Given the description of an element on the screen output the (x, y) to click on. 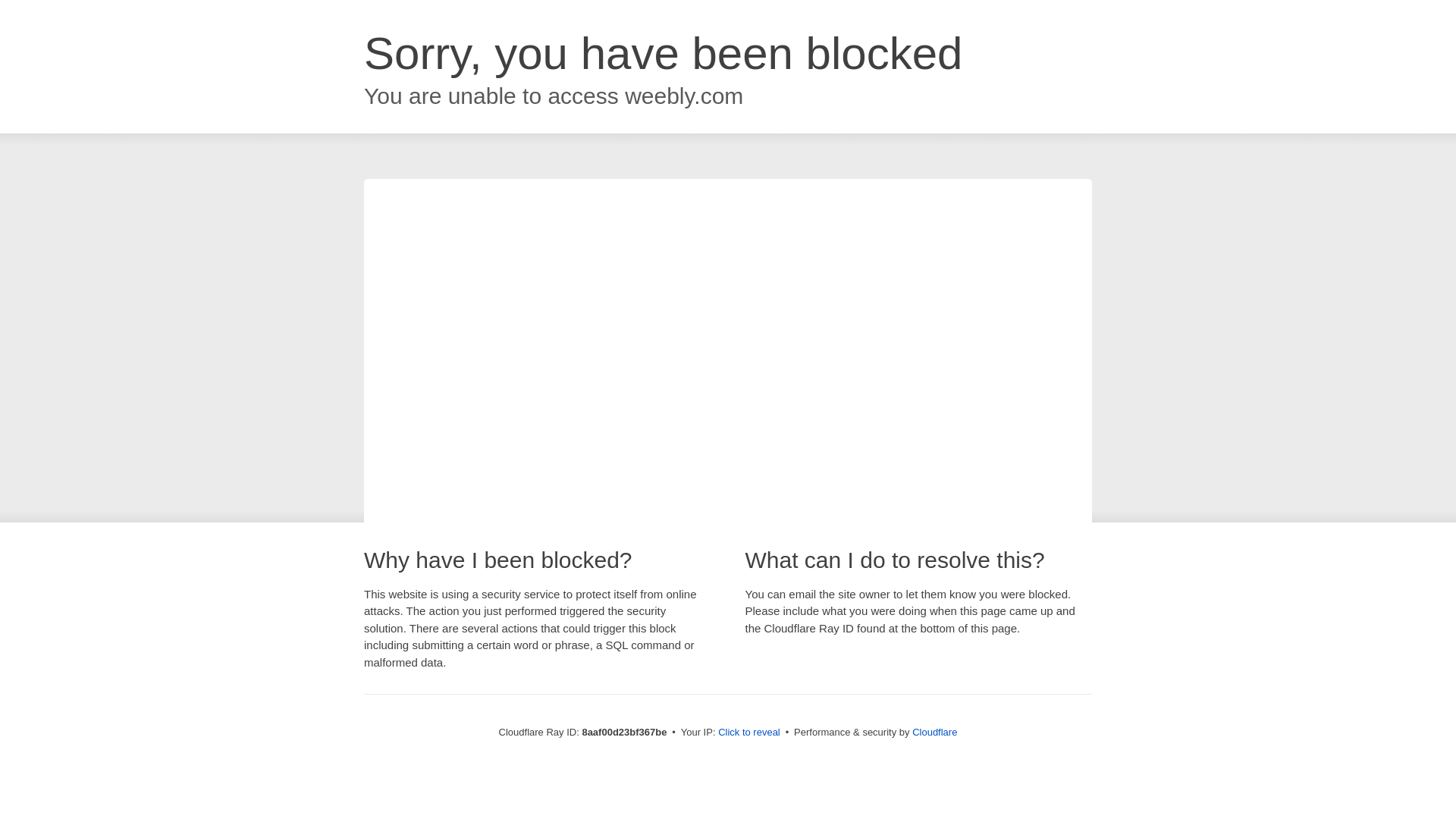
Cloudflare (934, 731)
Click to reveal (748, 732)
